Given the description of an element on the screen output the (x, y) to click on. 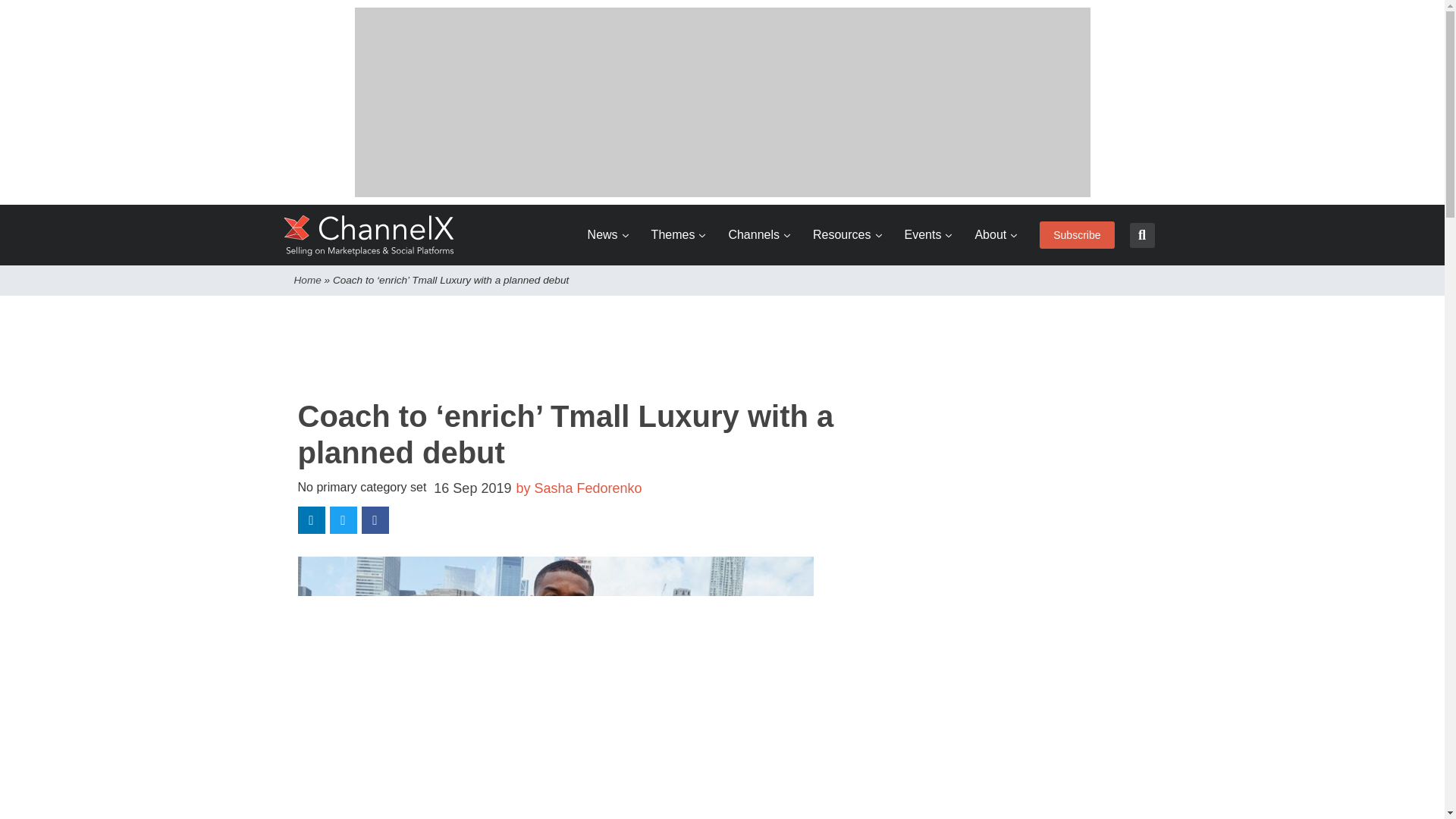
Themes (678, 234)
ChannelX Home Page (369, 234)
Resources (846, 234)
News (607, 234)
Channels (758, 234)
